Given the description of an element on the screen output the (x, y) to click on. 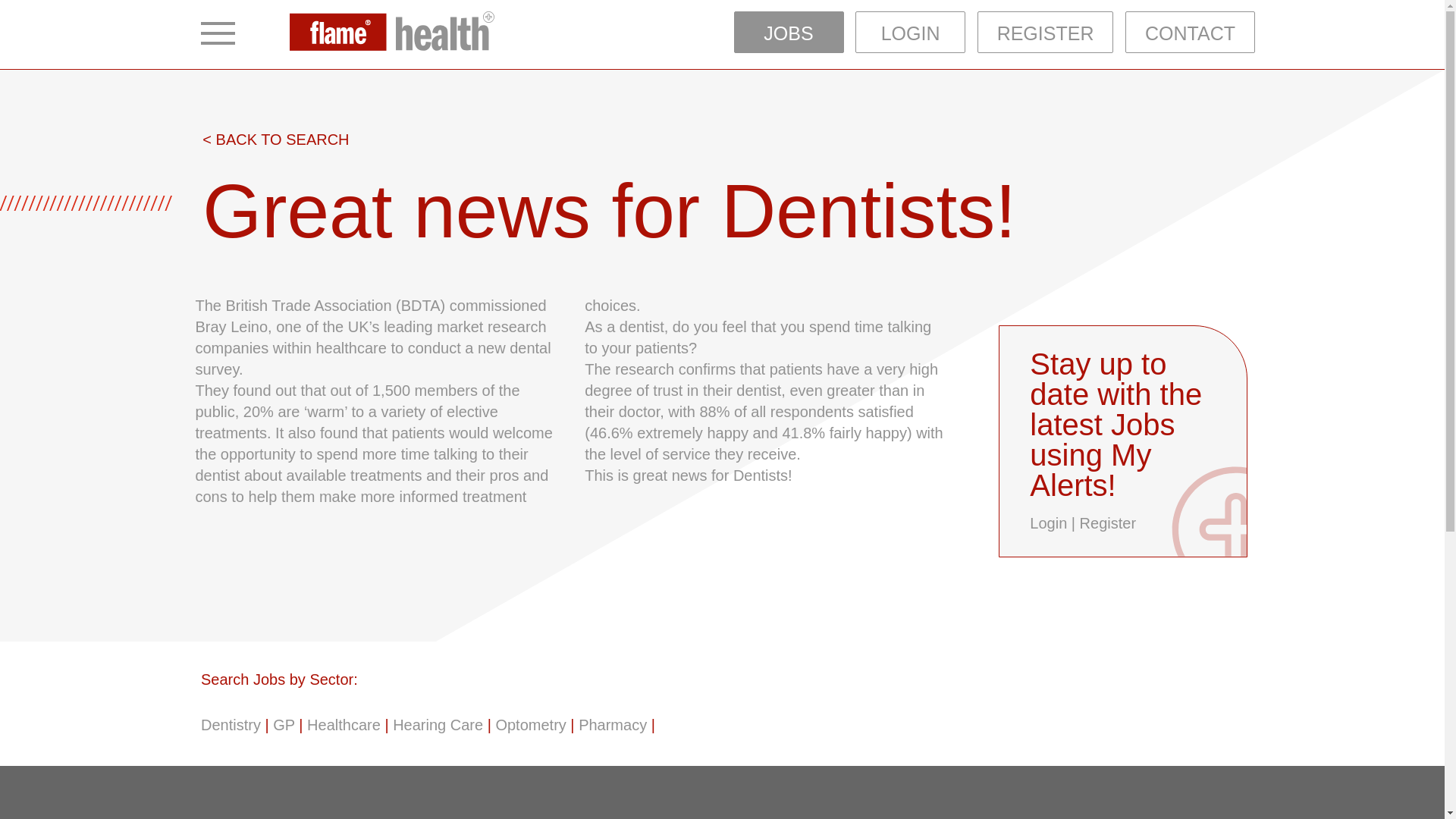
Healthcare (343, 724)
Flame Health (392, 33)
REGISTER (1044, 32)
GP (284, 724)
Jobs (589, 818)
CONTACT (1190, 32)
Dentistry (230, 724)
Login (1048, 523)
Hearing Care (438, 724)
GP (284, 724)
